Given the description of an element on the screen output the (x, y) to click on. 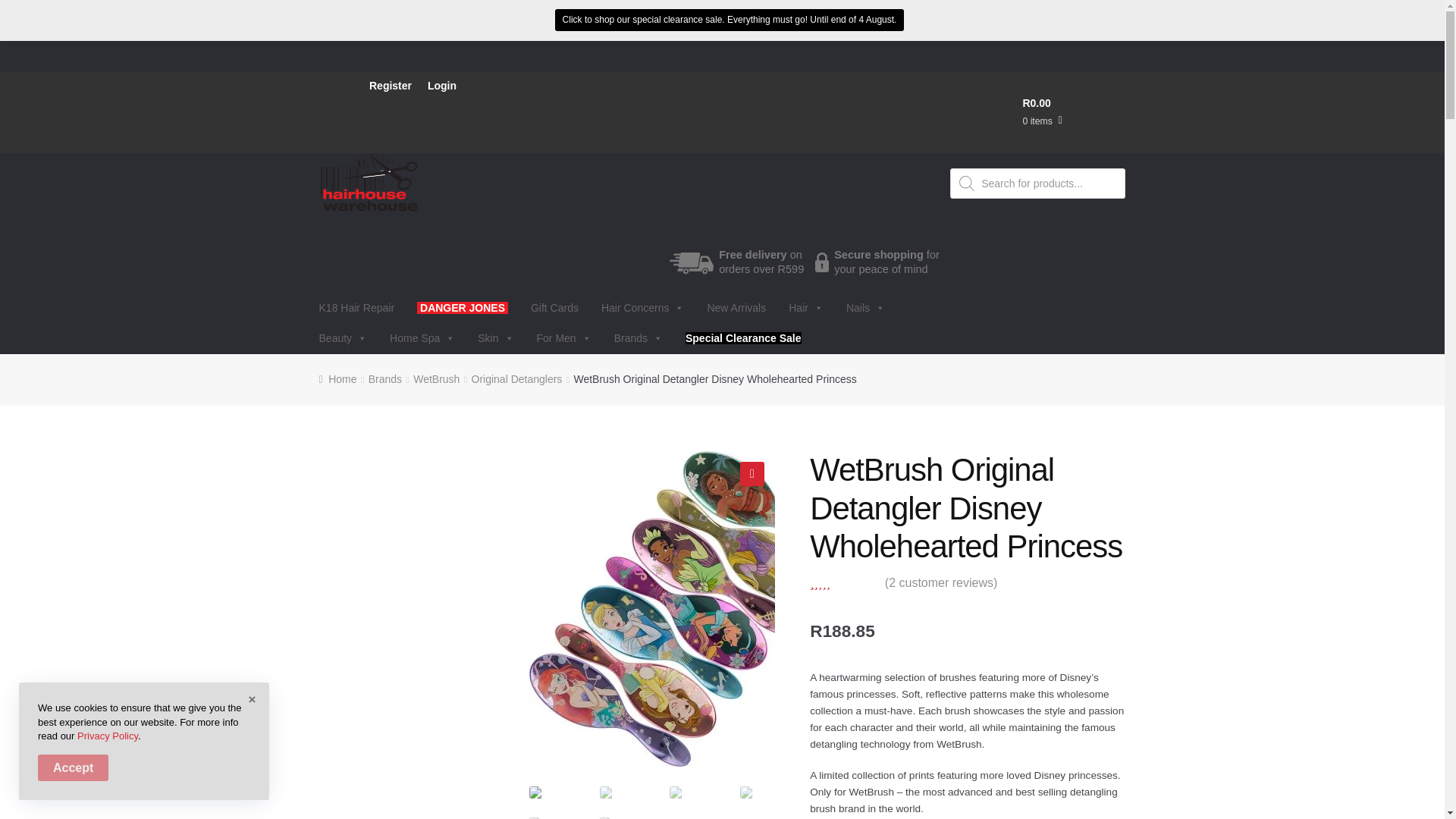
 DANGER JONES  (462, 307)
images (686, 608)
Delivery Information (691, 263)
Hair (806, 307)
Hair Concerns (642, 307)
Free delivery on orders over R599 (761, 261)
Gift Cards (554, 307)
Register (390, 85)
New Arrivals (735, 307)
Login (442, 85)
K18 Hair Repair (356, 307)
